Given the description of an element on the screen output the (x, y) to click on. 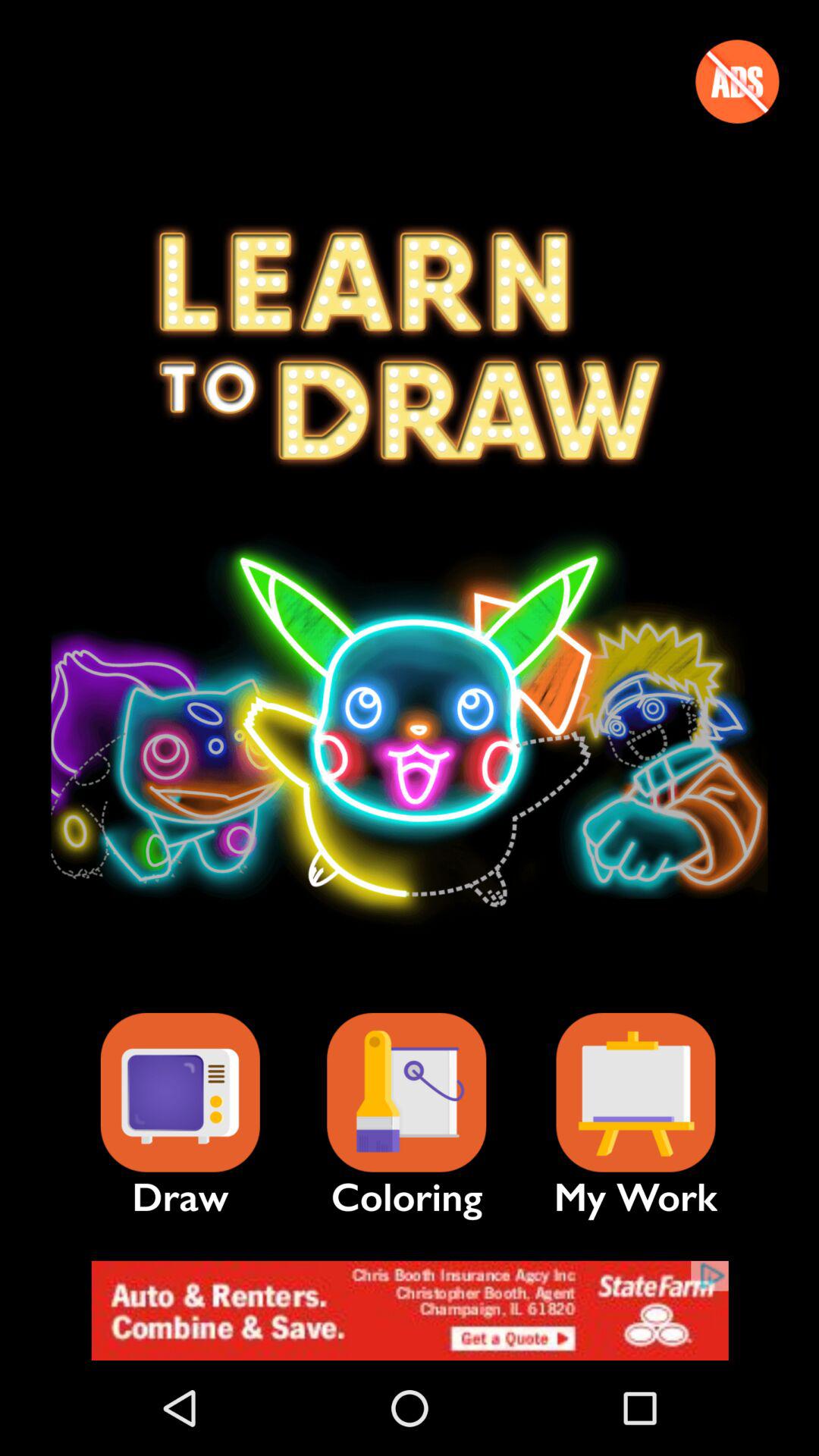
turn on the icon at the top right corner (737, 81)
